Given the description of an element on the screen output the (x, y) to click on. 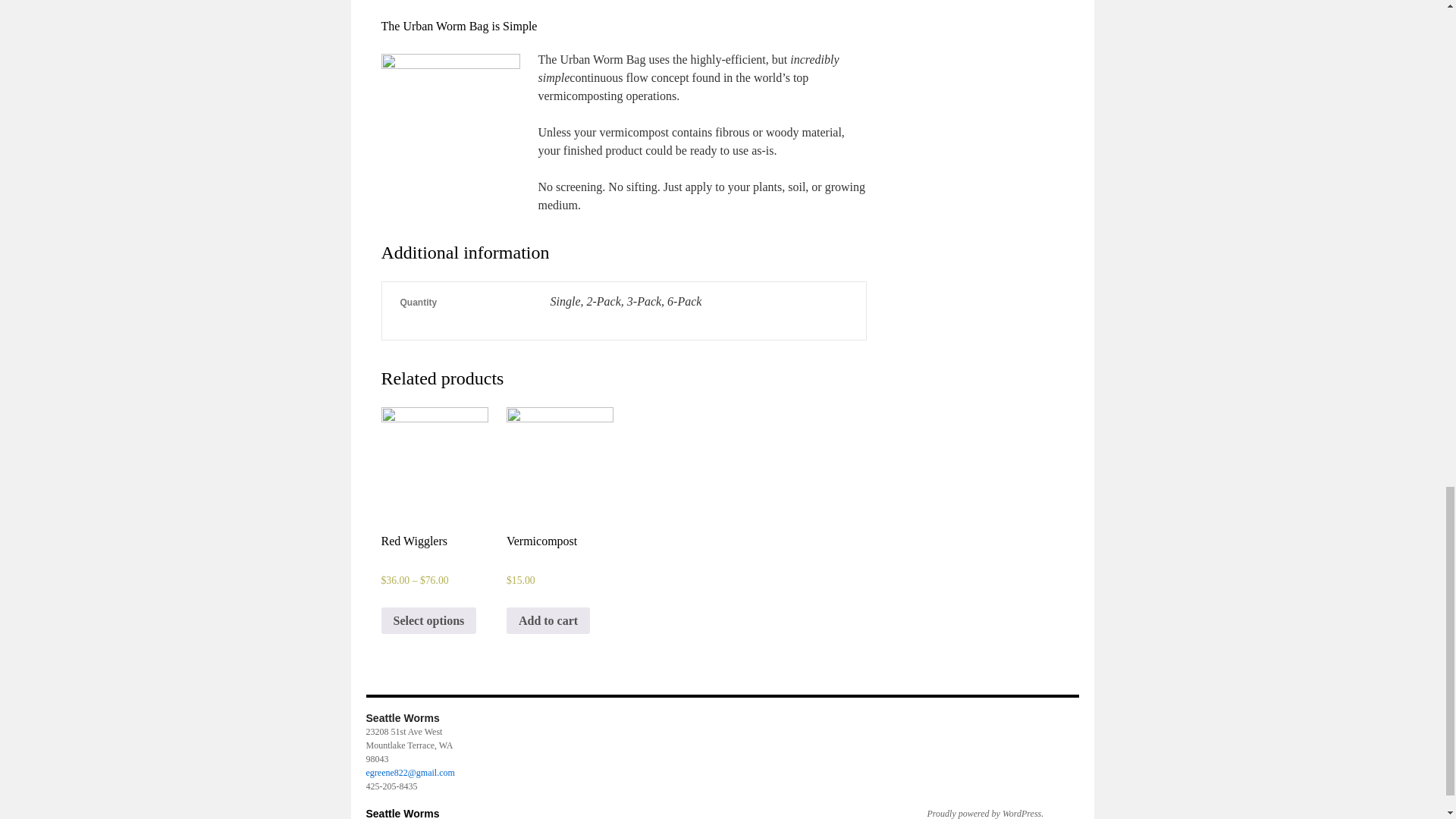
Add to cart (547, 620)
Select options (428, 620)
